Given the description of an element on the screen output the (x, y) to click on. 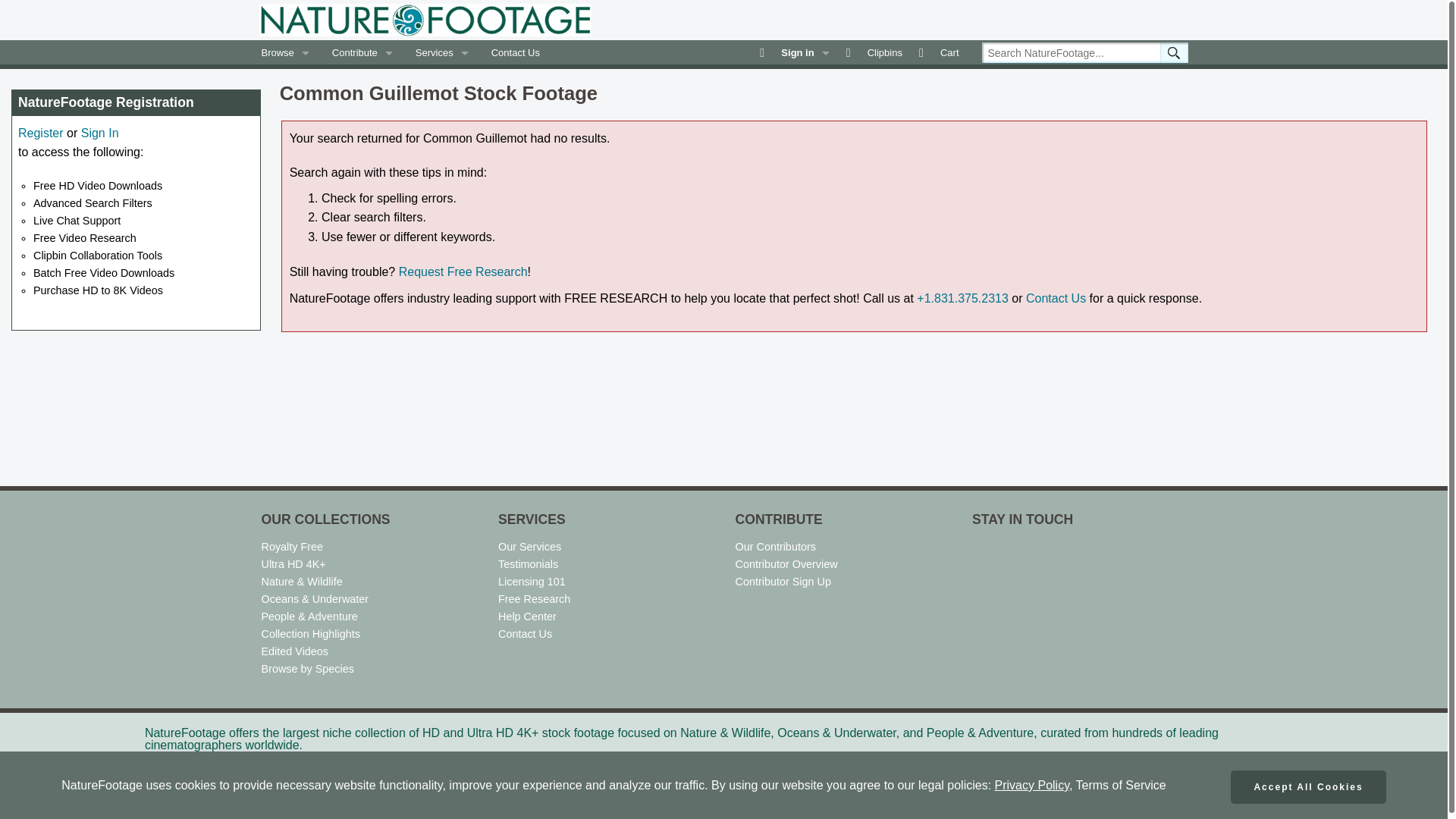
Sign in (797, 52)
Cart (942, 52)
Request Free Research (462, 271)
Royalty Free (291, 546)
Clipbins (877, 52)
Services (442, 52)
NatureFootage (425, 20)
Sign In (100, 132)
Register (40, 132)
Contact Us (515, 52)
Contribute (362, 52)
Browse (285, 52)
Contact Us (1056, 297)
